Given the description of an element on the screen output the (x, y) to click on. 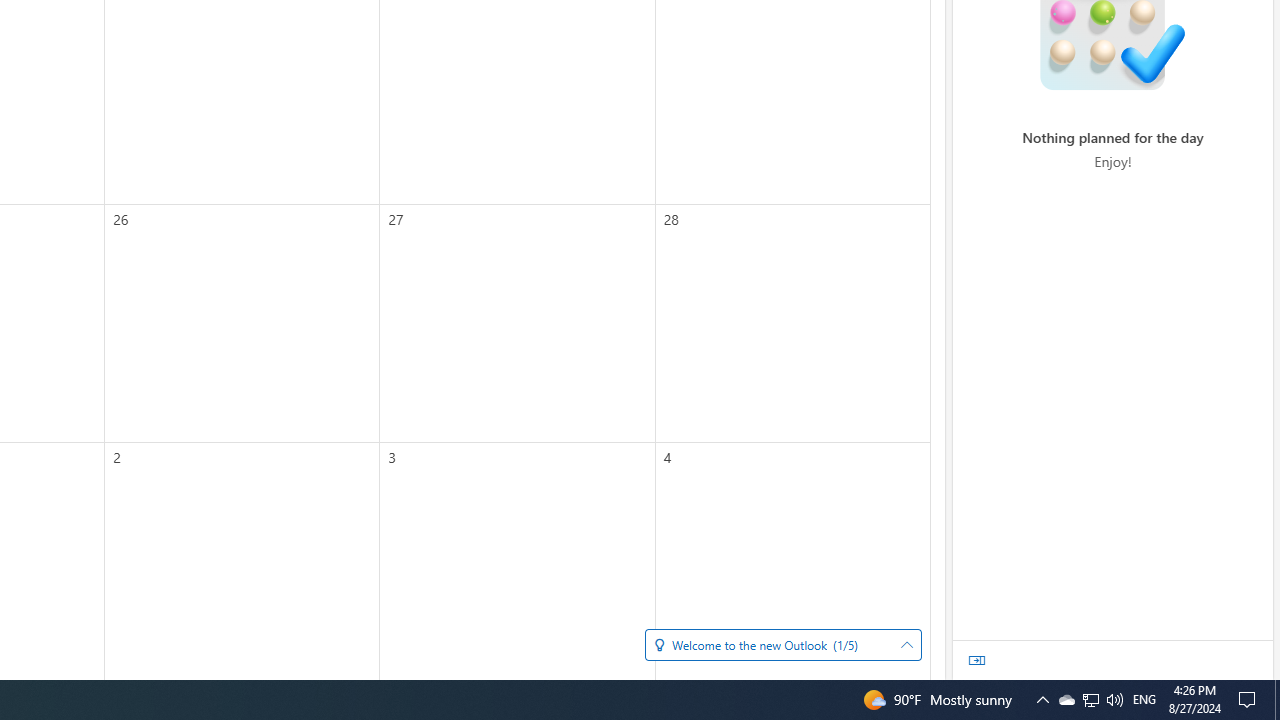
Show desktop (1091, 699)
Tray Input Indicator - English (United States) (1277, 699)
Notification Chevron (1144, 699)
Q2790: 100% (1042, 699)
Toggle agenda pane (1114, 699)
User Promoted Notification Area (977, 660)
Action Center, No new notifications (1090, 699)
